Given the description of an element on the screen output the (x, y) to click on. 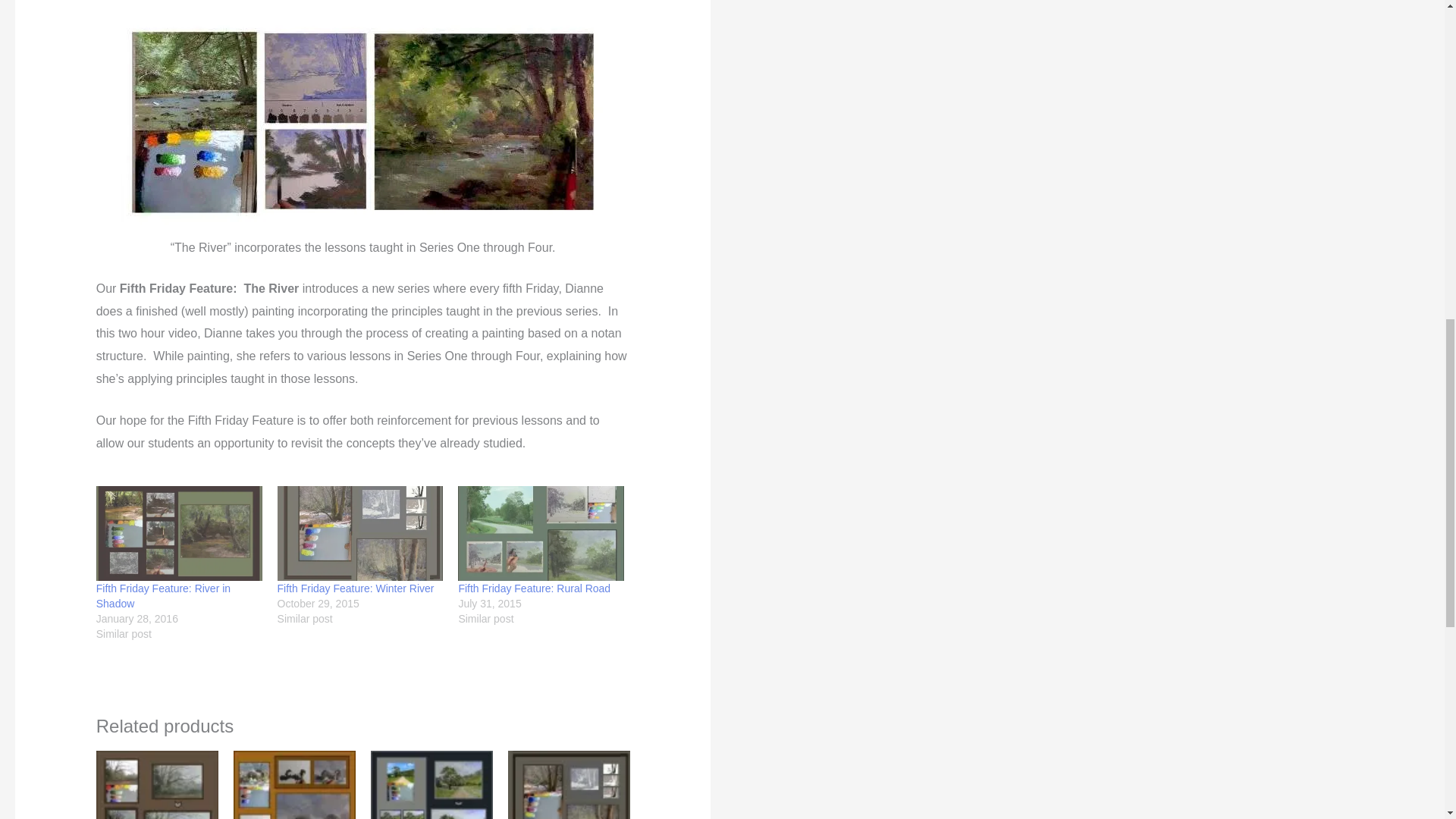
Fifth Friday Feature:  River in Shadow (179, 533)
Fifth Friday Feature:  Winter River (361, 533)
Fifth Friday Feature:  Winter River (355, 588)
Fifth Friday Feature:  River in Shadow (163, 595)
Fifth Friday Feature:  Rural Road (541, 533)
Fifth Friday Feature:  Rural Road (534, 588)
